Given the description of an element on the screen output the (x, y) to click on. 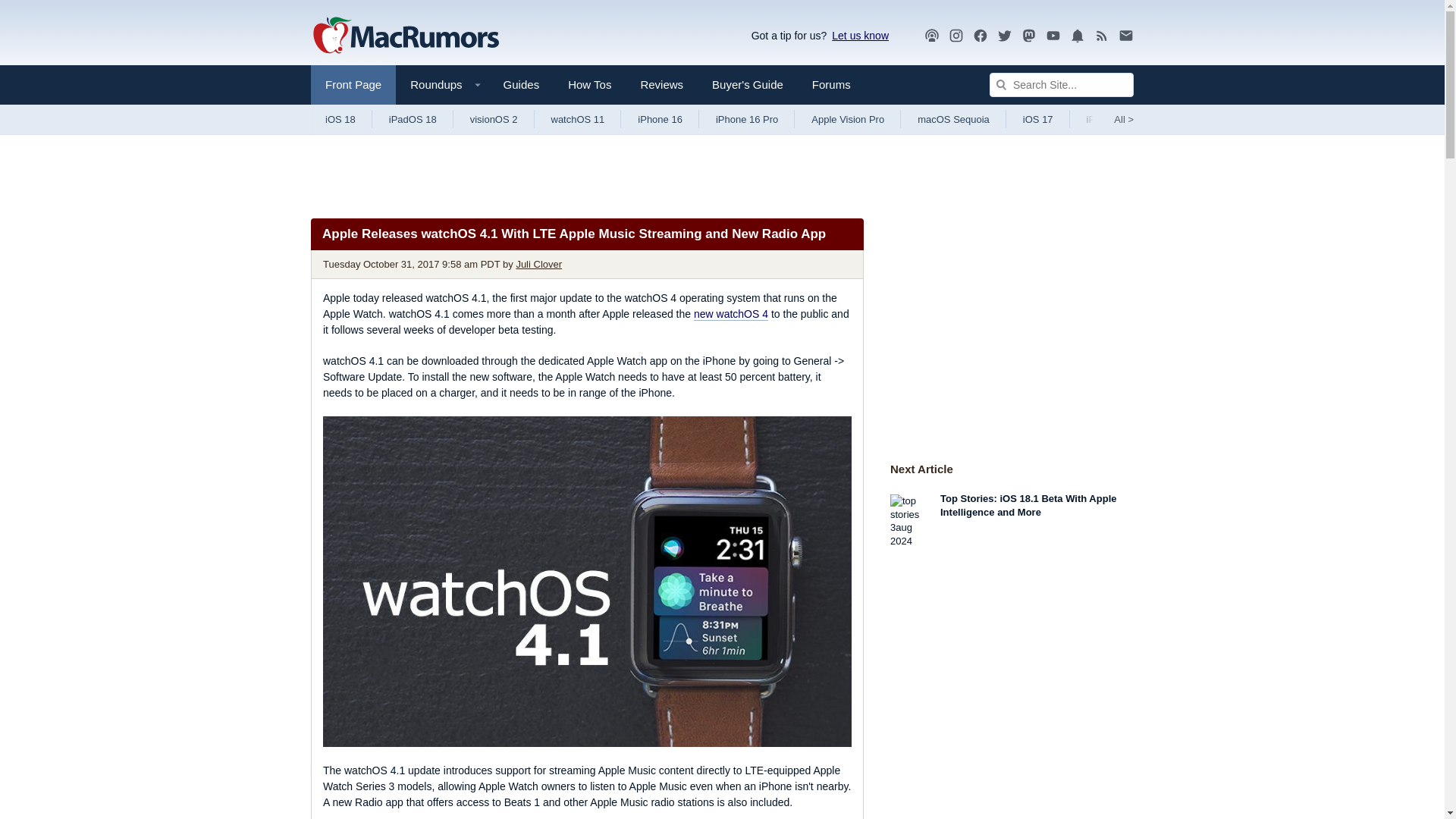
Newsletter (1126, 35)
Roundups (441, 84)
Roundups (441, 84)
Facebook (980, 35)
Twitter (1004, 35)
Buyer's Guide (747, 84)
Mastodon (1029, 35)
Apple, Mac, iPhone, iPad News and Rumors (405, 36)
MacRumors Show (931, 35)
Twitter (1004, 35)
